Given the description of an element on the screen output the (x, y) to click on. 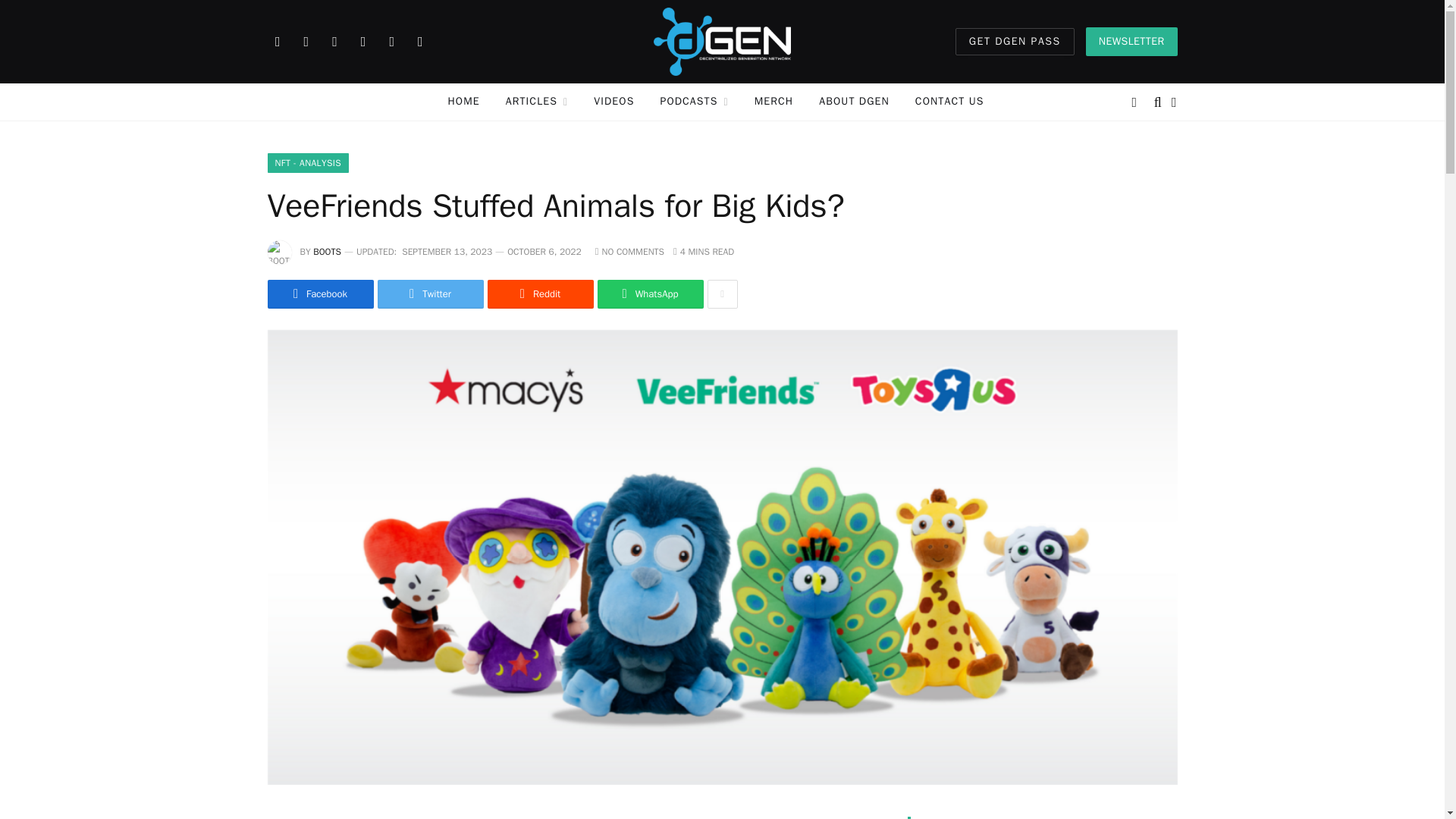
GET DGEN PASS (1014, 41)
ARTICLES (536, 101)
NEWSLETTER (1131, 41)
HOME (464, 101)
dGEN Network (721, 41)
